Given the description of an element on the screen output the (x, y) to click on. 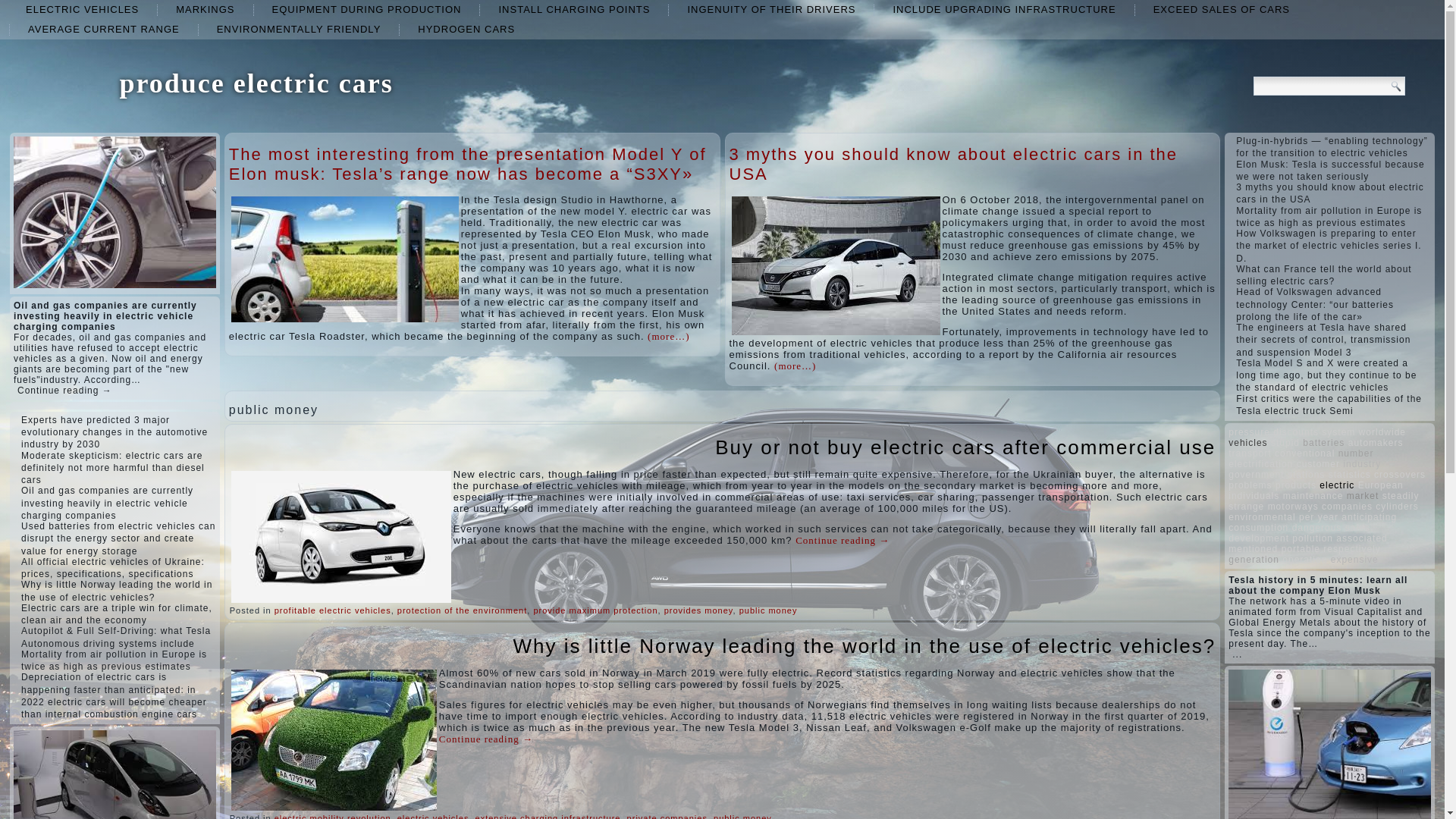
markings (204, 9)
ELECTRIC VEHICLES (81, 9)
average current range (103, 29)
MARKINGS (204, 9)
exceed sales of cars (1221, 9)
profitable electric vehicles (333, 610)
ENVIRONMENTALLY FRIENDLY (298, 29)
